Given the description of an element on the screen output the (x, y) to click on. 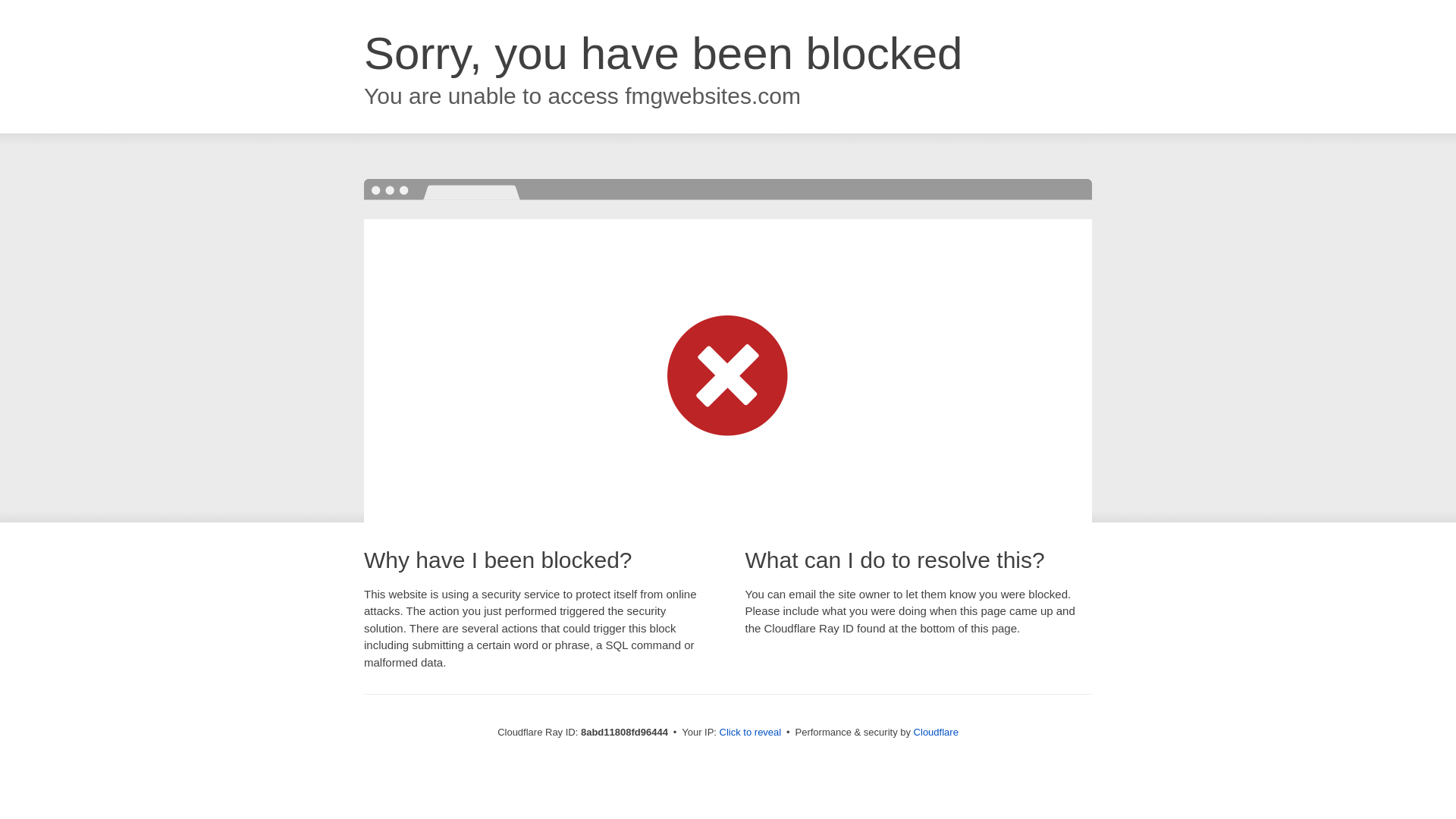
Click to reveal (750, 732)
Cloudflare (936, 731)
